Given the description of an element on the screen output the (x, y) to click on. 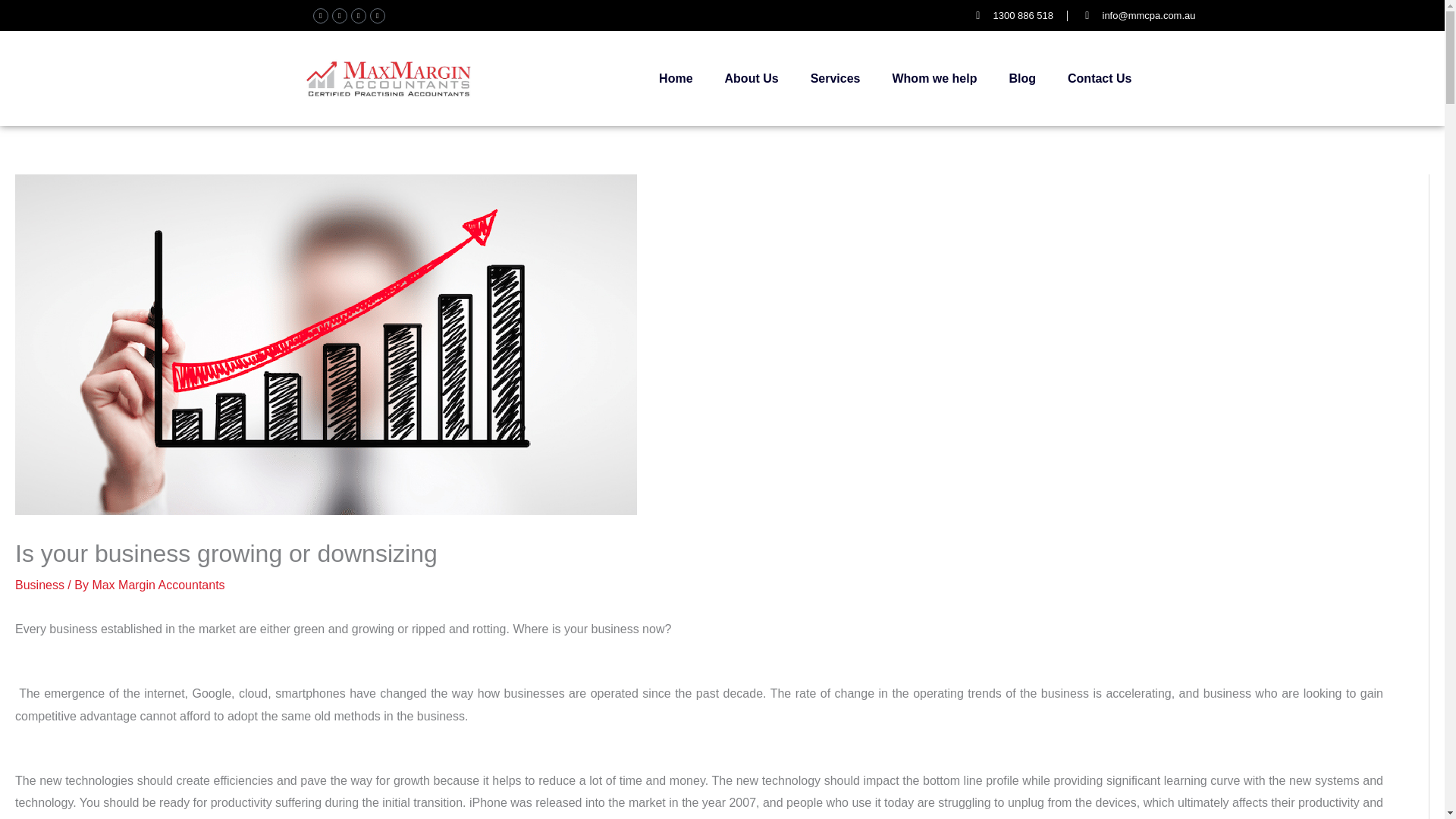
About Us (751, 78)
Home (675, 78)
Whom we help (933, 78)
View all posts by Max Margin Accountants (157, 584)
Services (835, 78)
1300 886 518 (1011, 15)
